Given the description of an element on the screen output the (x, y) to click on. 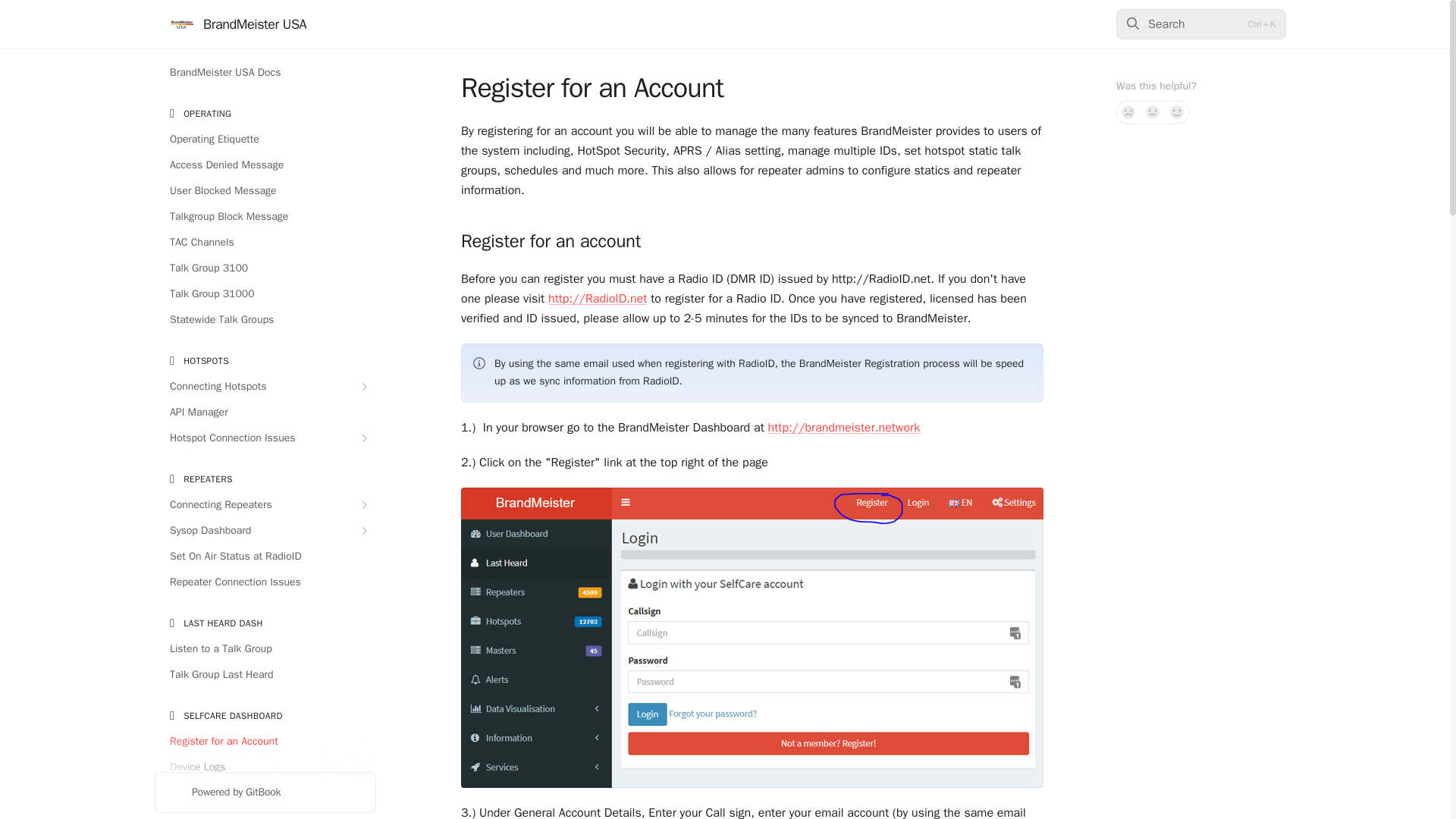
Connecting Repeaters (264, 504)
Talk Group 31000 (264, 293)
Connecting Hotspots (264, 386)
API Manager (264, 412)
Talk Group 3100 (264, 268)
Hotspot Connection Issues (264, 437)
Access Denied Message (264, 165)
Talk Group Last Heard (264, 674)
Yes, it was! (1176, 111)
Repeater Connection Issues (264, 582)
